Given the description of an element on the screen output the (x, y) to click on. 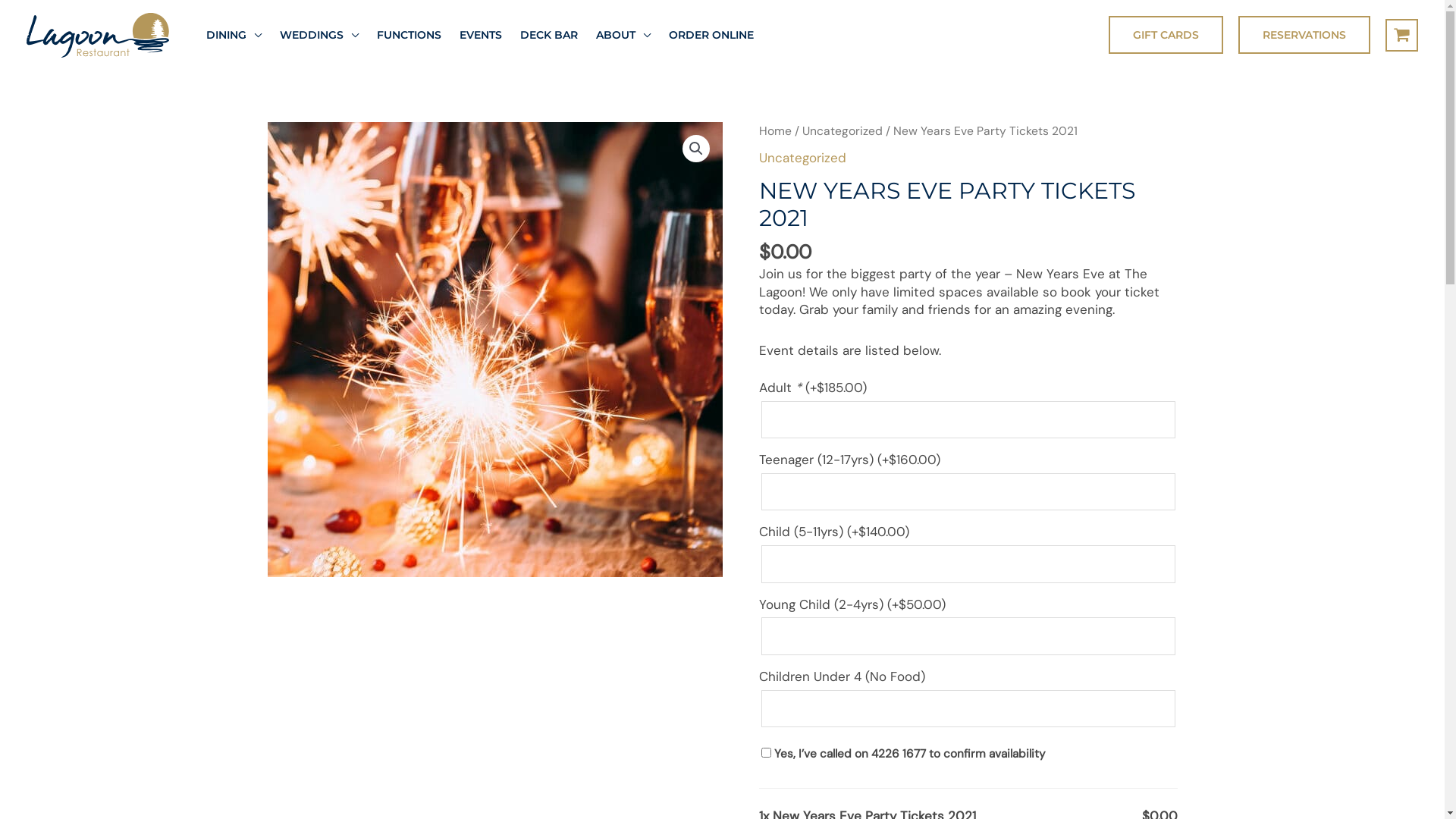
Uncategorized Element type: text (801, 157)
GIFT CARDS Element type: text (1165, 34)
EVENTS Element type: text (480, 34)
Uncategorized Element type: text (842, 130)
FUNCTIONS Element type: text (408, 34)
Home Element type: text (774, 130)
WEDDINGS Element type: text (318, 34)
ABOUT Element type: text (622, 34)
DINING Element type: text (233, 34)
DECK BAR Element type: text (548, 34)
RESERVATIONS Element type: text (1304, 34)
ORDER ONLINE Element type: text (710, 34)
